Given the description of an element on the screen output the (x, y) to click on. 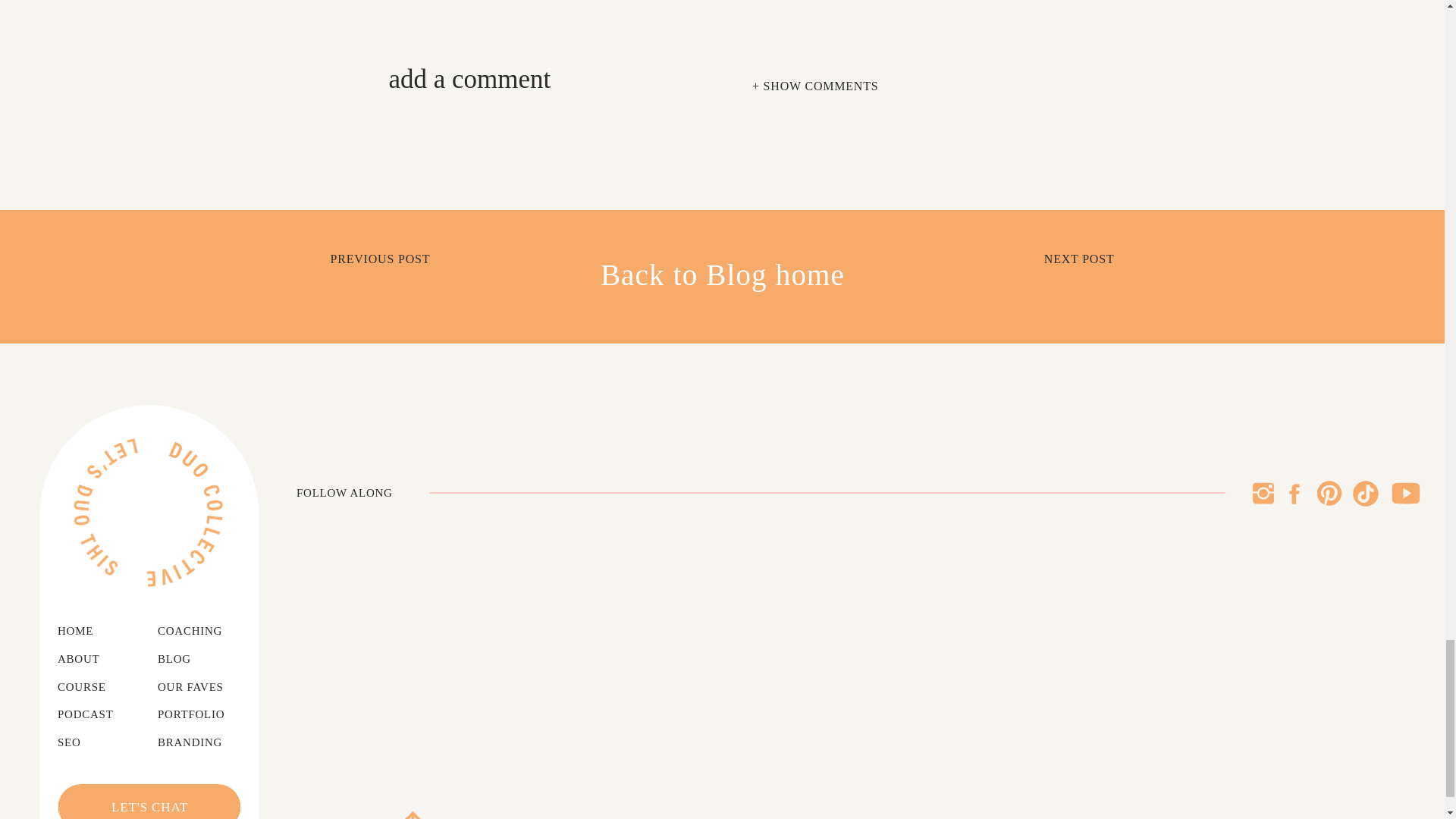
Back to Blog home (722, 276)
HOME (85, 631)
COACHING (203, 631)
BRANDING (200, 742)
OUR FAVES (200, 687)
COURSE (91, 687)
BLOG (178, 659)
ABOUT (88, 659)
